Given the description of an element on the screen output the (x, y) to click on. 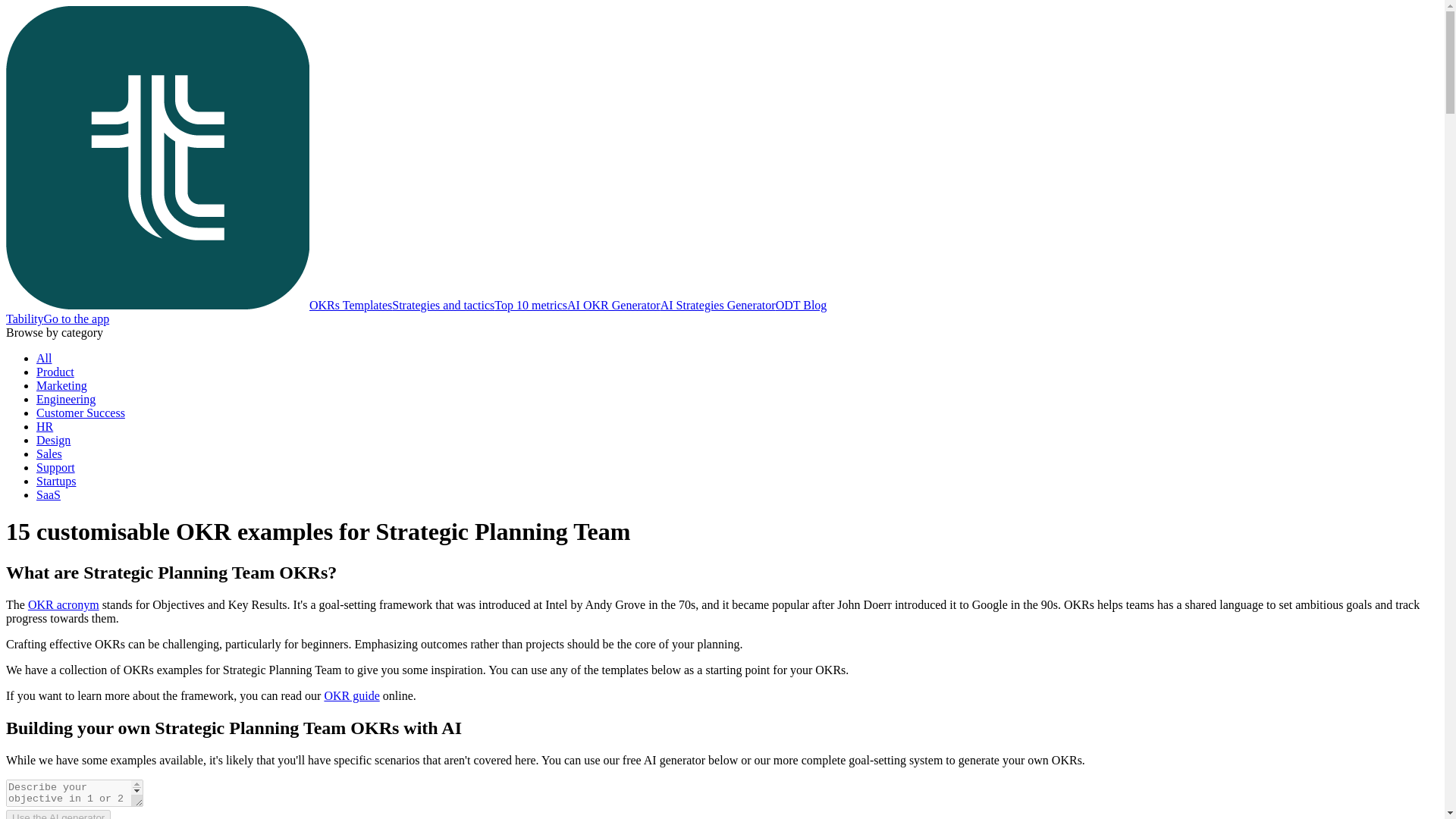
ODT Blog (801, 305)
Startups (55, 481)
SaaS (48, 494)
OKRs Templates (198, 305)
Customer Success (80, 412)
Sales (49, 453)
Top 10 metrics (531, 305)
OKR acronym (63, 604)
Go to the app (76, 318)
OKR guide (350, 695)
